Given the description of an element on the screen output the (x, y) to click on. 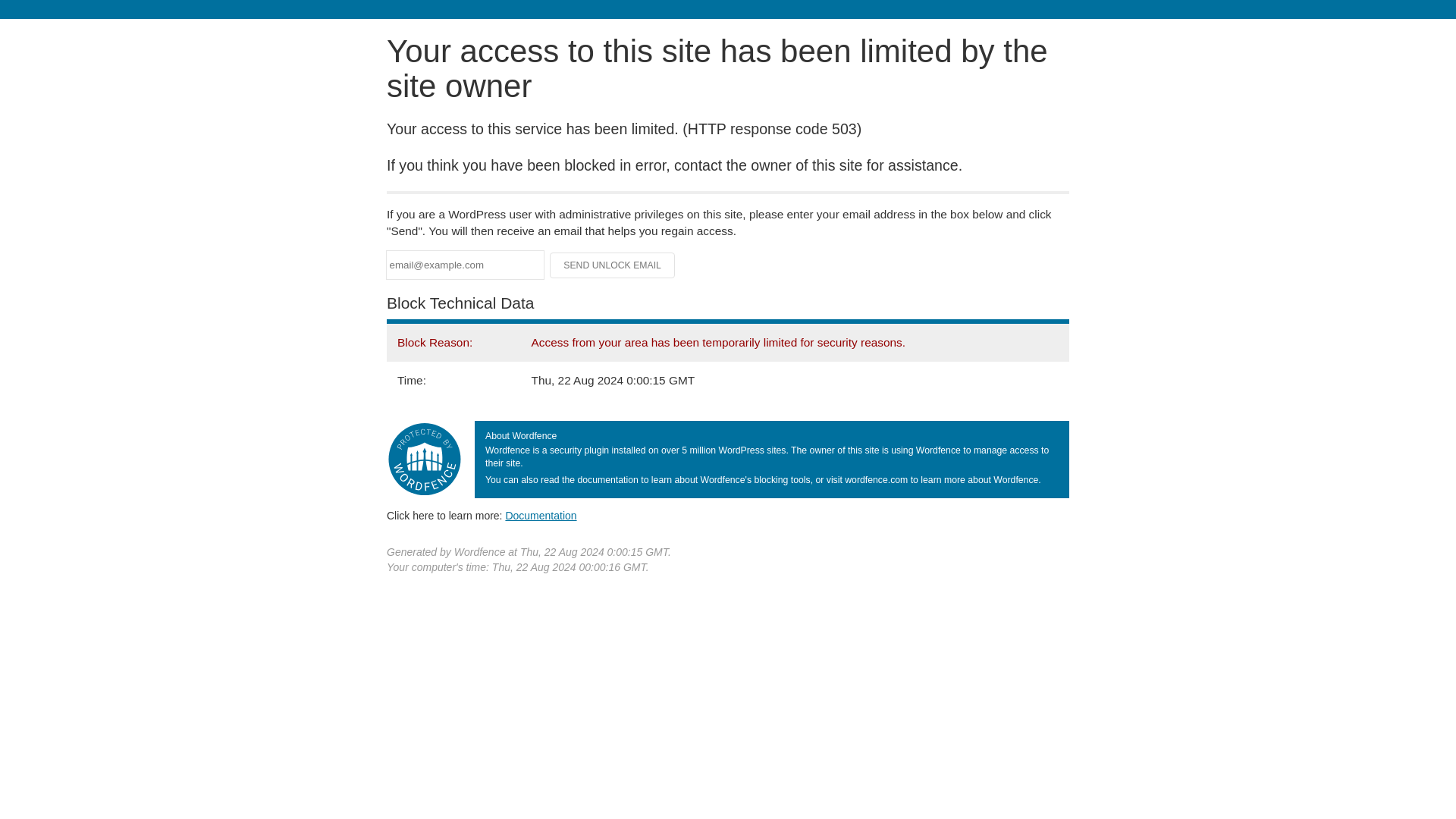
Documentation (540, 515)
Send Unlock Email (612, 265)
Send Unlock Email (612, 265)
